Given the description of an element on the screen output the (x, y) to click on. 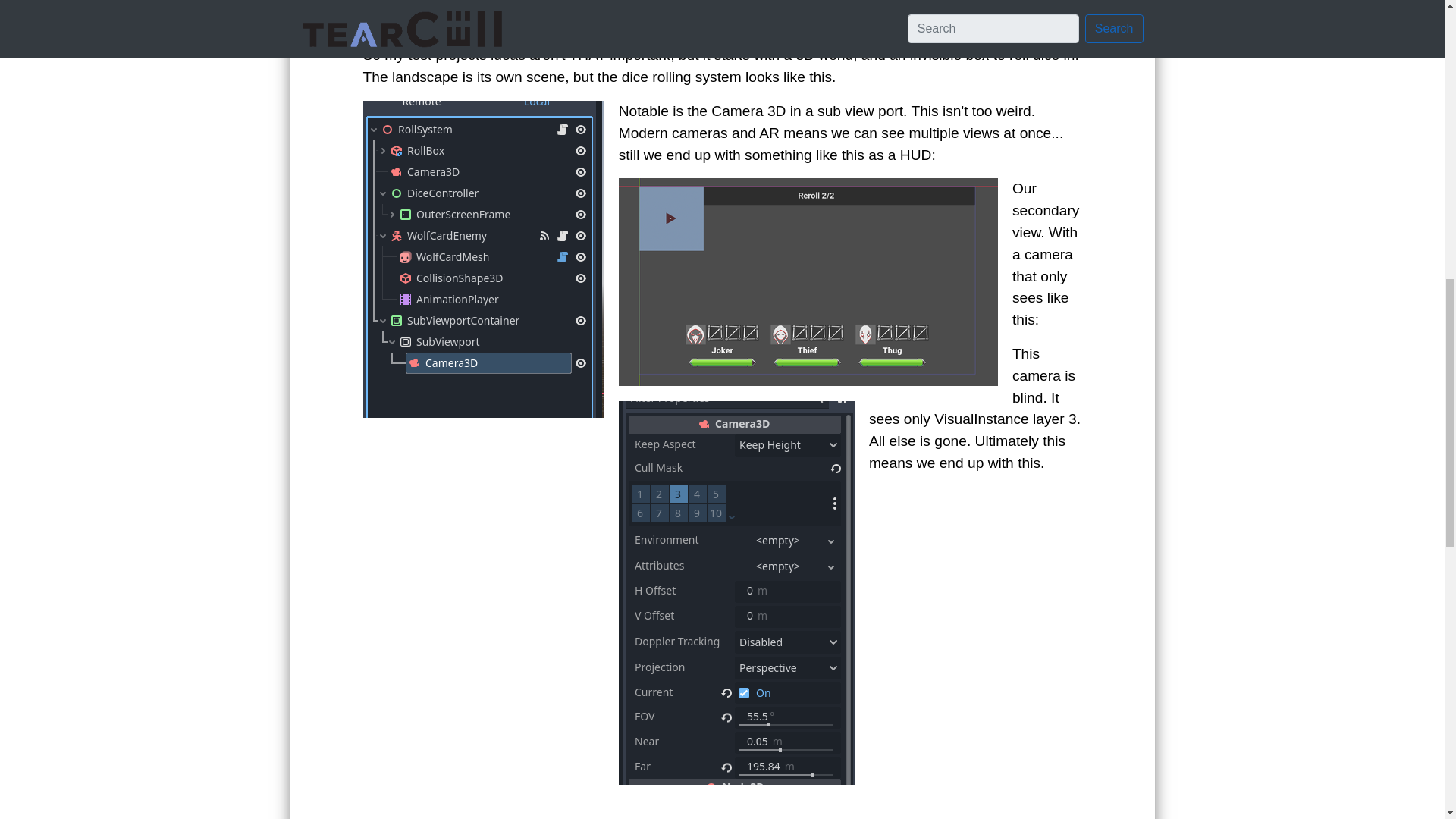
Godot Viewport example 3 (721, 809)
Somnipathy (400, 21)
